Given the description of an element on the screen output the (x, y) to click on. 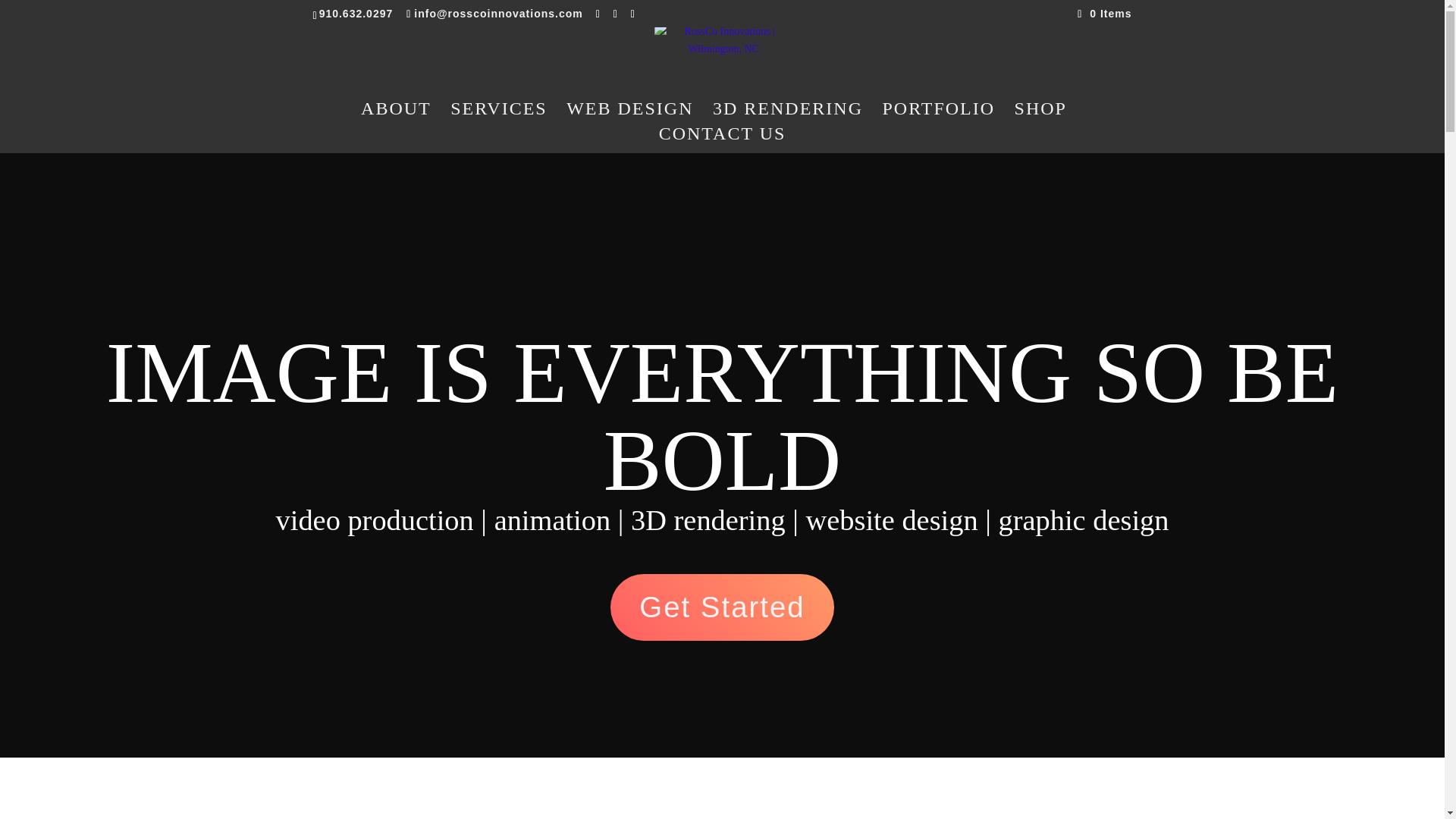
WEB DESIGN (629, 115)
0 Items (1104, 13)
PORTFOLIO (938, 115)
SERVICES (498, 115)
CONTACT US (722, 140)
Get Started (722, 607)
ABOUT (395, 115)
3D RENDERING (788, 115)
SHOP (1040, 115)
